Given the description of an element on the screen output the (x, y) to click on. 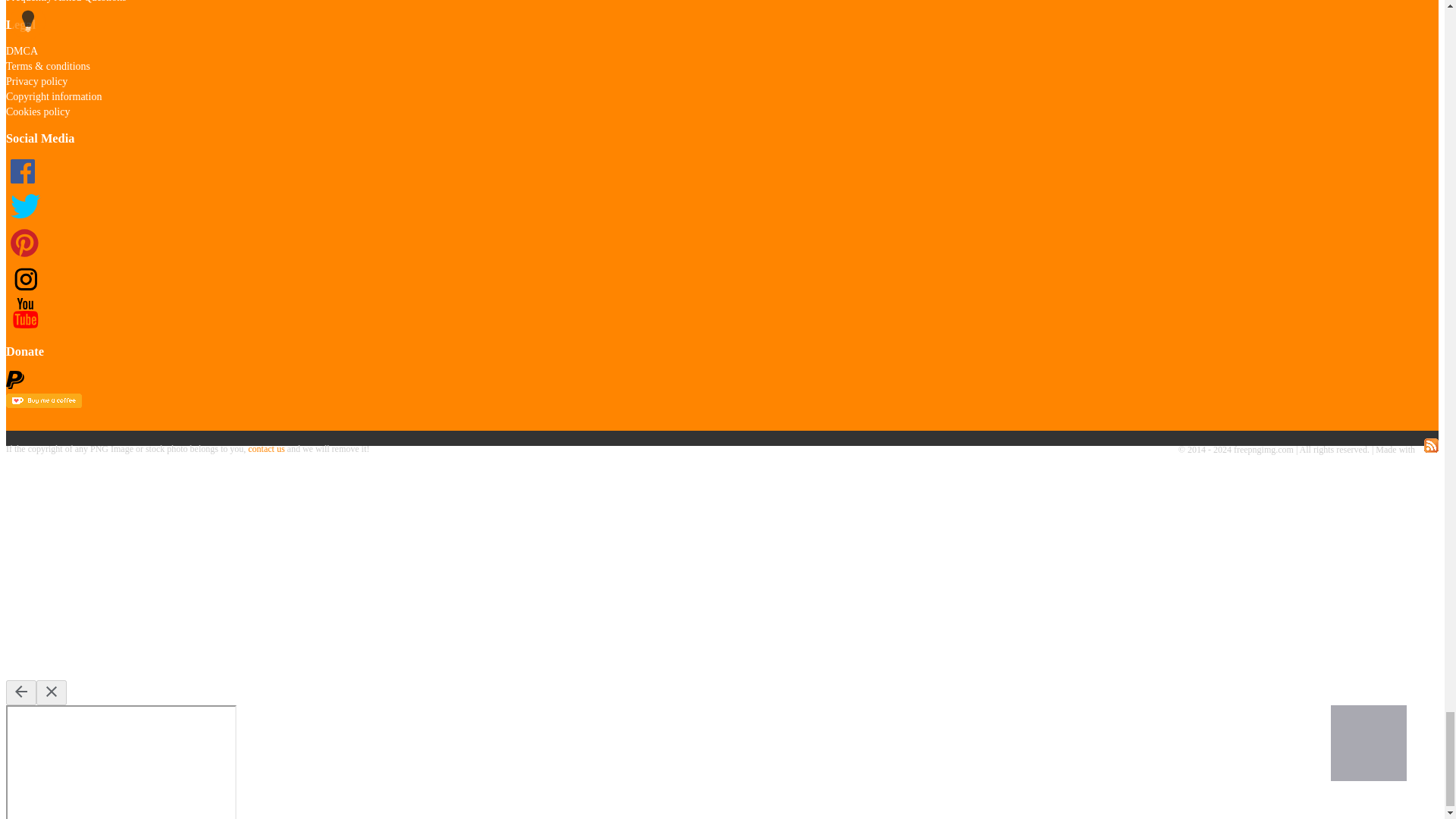
Follow FreePNGImg.com on Instagram (24, 289)
Follow FreePNGImg.com on Pinterest (24, 255)
Subscribe FreePNGImg.com on YouTube (24, 324)
Follow FreePNGImg.com on Facebook (24, 184)
Follow FreePNGImg.com on Twitter (24, 220)
